Given the description of an element on the screen output the (x, y) to click on. 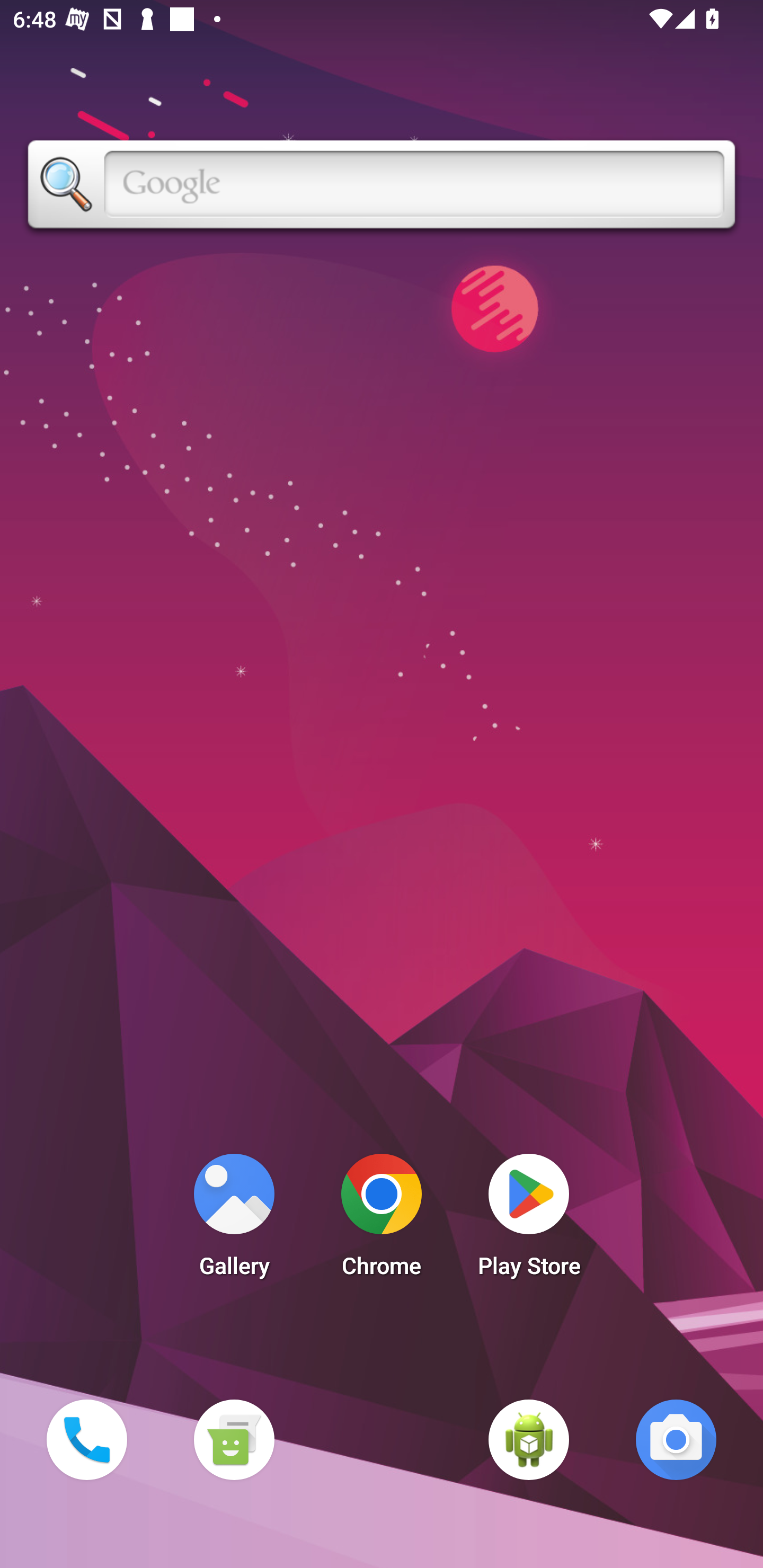
Gallery (233, 1220)
Chrome (381, 1220)
Play Store (528, 1220)
Phone (86, 1439)
Messaging (233, 1439)
WebView Browser Tester (528, 1439)
Camera (676, 1439)
